Given the description of an element on the screen output the (x, y) to click on. 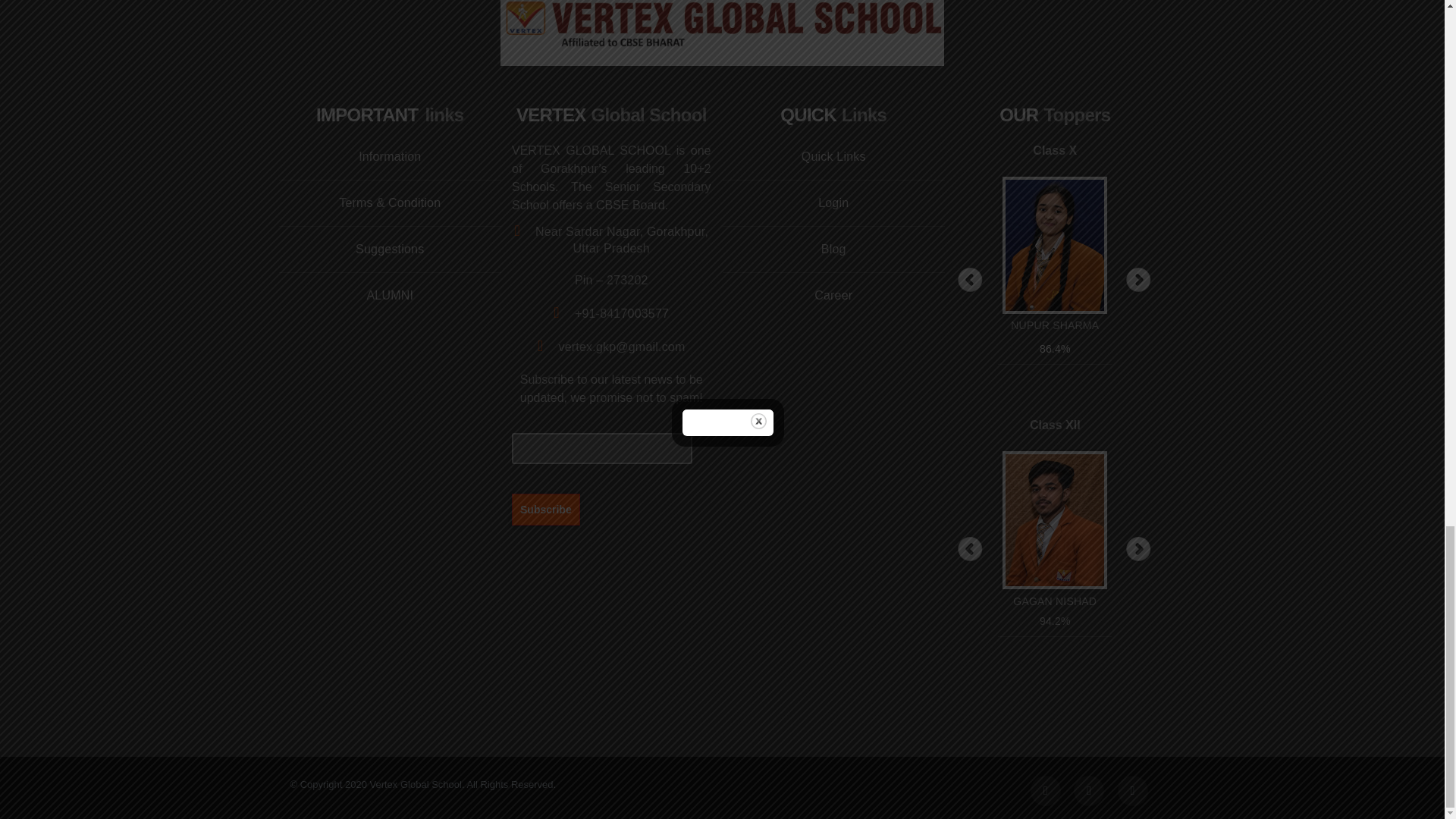
Subscribe (545, 508)
